Given the description of an element on the screen output the (x, y) to click on. 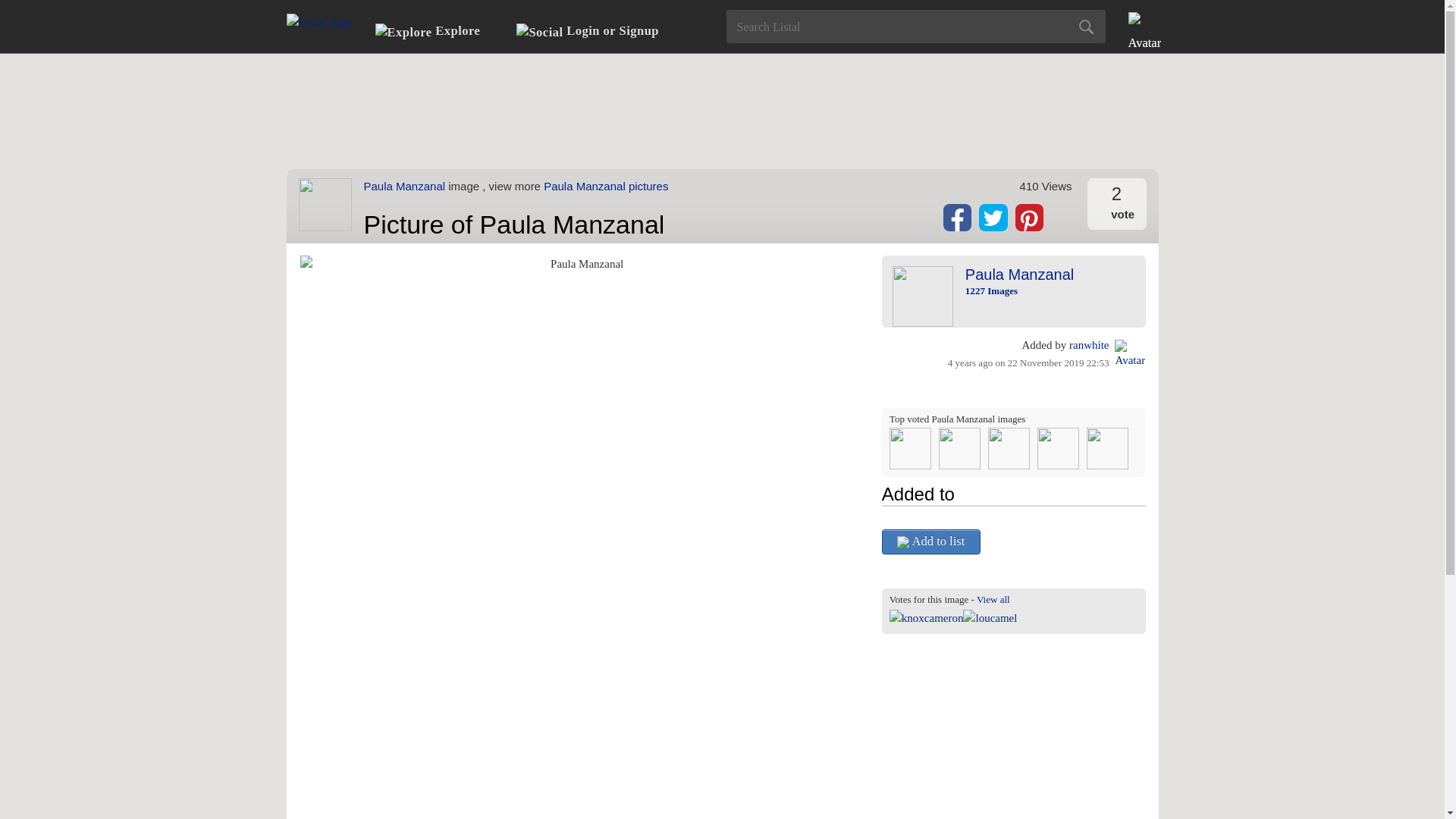
Explore (427, 31)
knoxcameron (926, 618)
Avatar (1129, 354)
loucamel (989, 618)
